Given the description of an element on the screen output the (x, y) to click on. 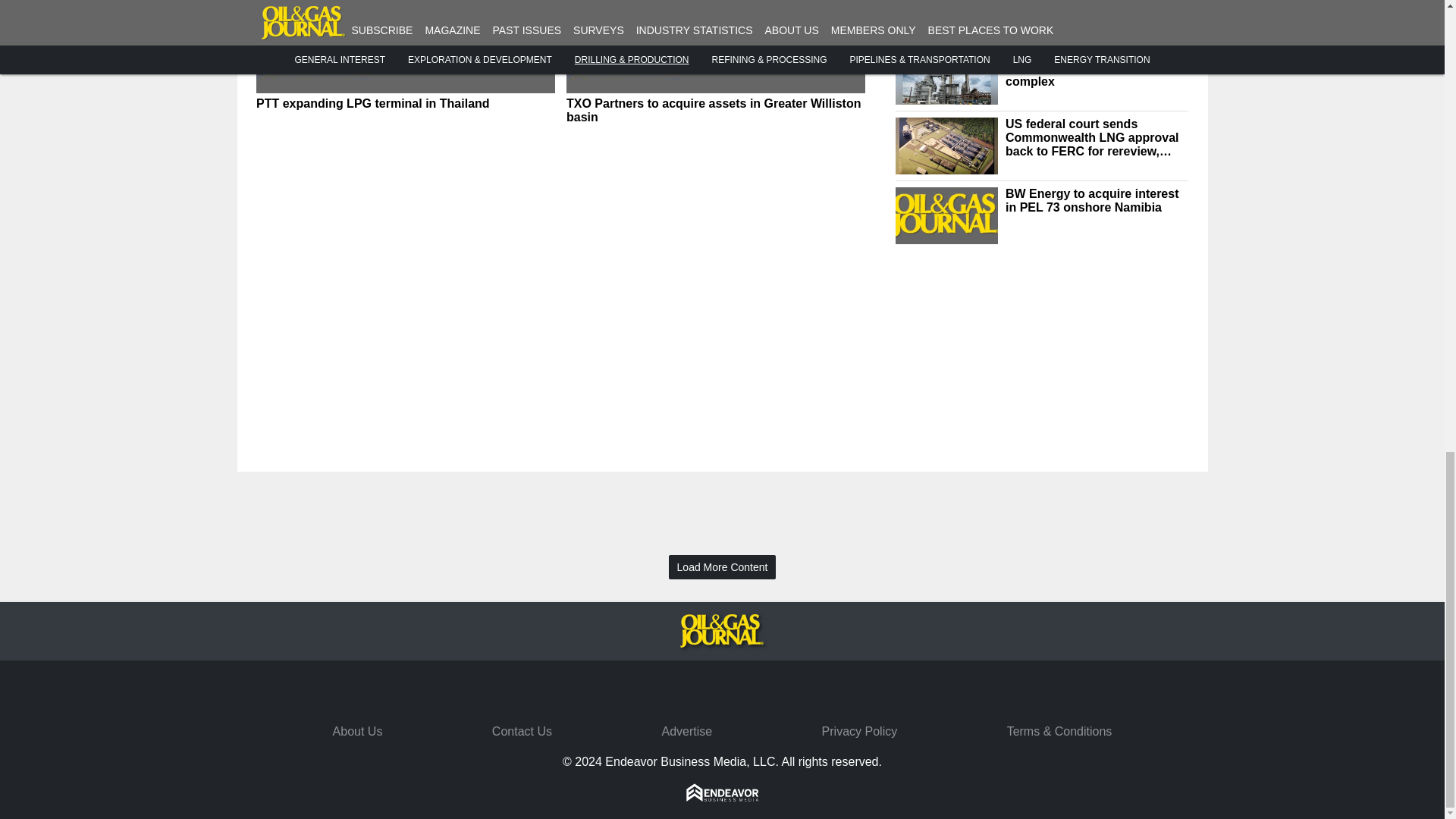
Essar advances hydrogen power plant for UK refining complex (1097, 67)
Load More Content (722, 567)
TXO Partners to acquire assets in Greater Williston basin (715, 110)
BW Energy to acquire interest in PEL 73 onshore Namibia (1097, 200)
PTT expanding LPG terminal in Thailand (405, 103)
